Given the description of an element on the screen output the (x, y) to click on. 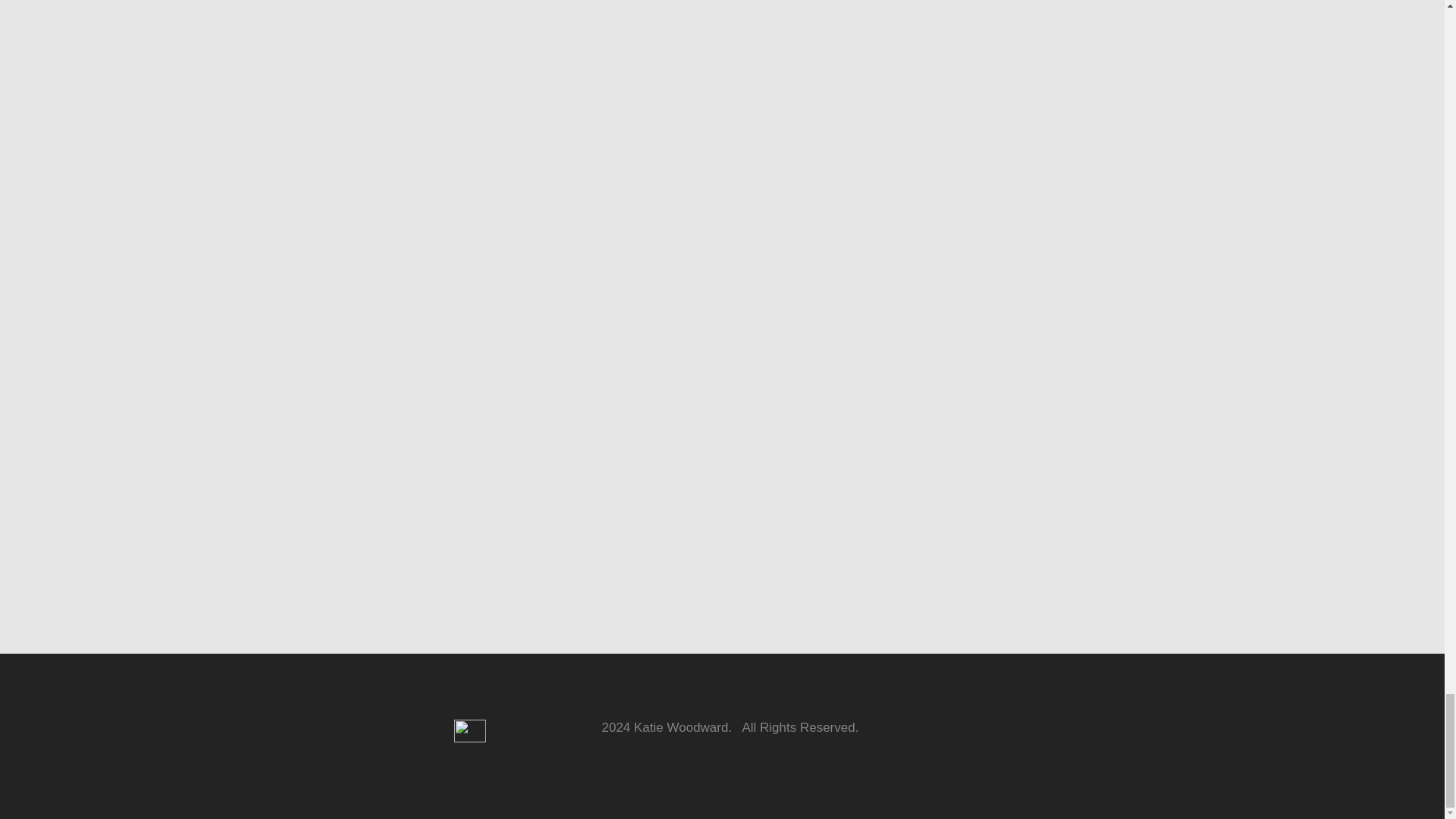
Screen shot 2015-12-27 at 11.38.44 AM.png (468, 730)
